Given the description of an element on the screen output the (x, y) to click on. 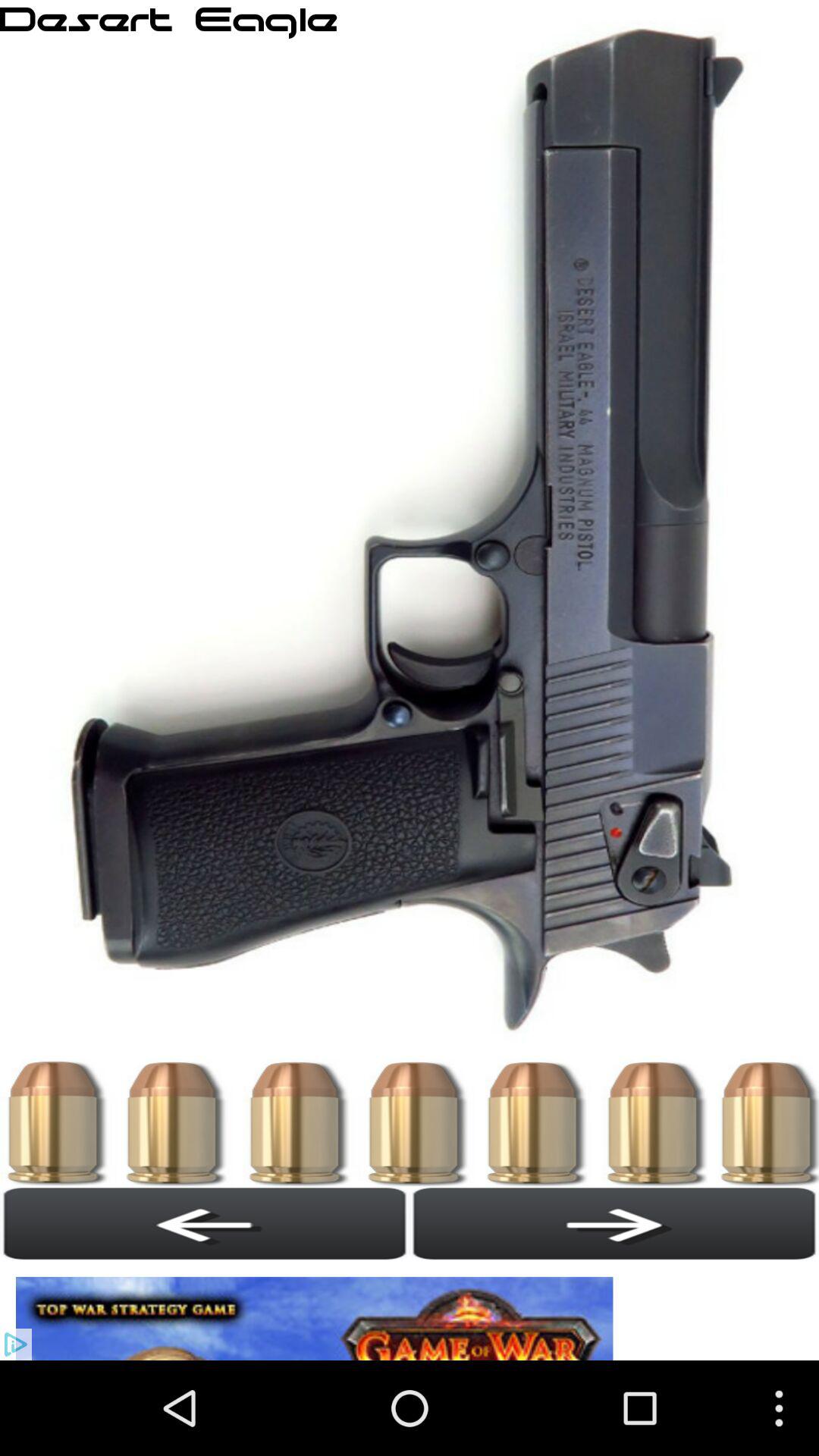
open advertisement (318, 1310)
